Given the description of an element on the screen output the (x, y) to click on. 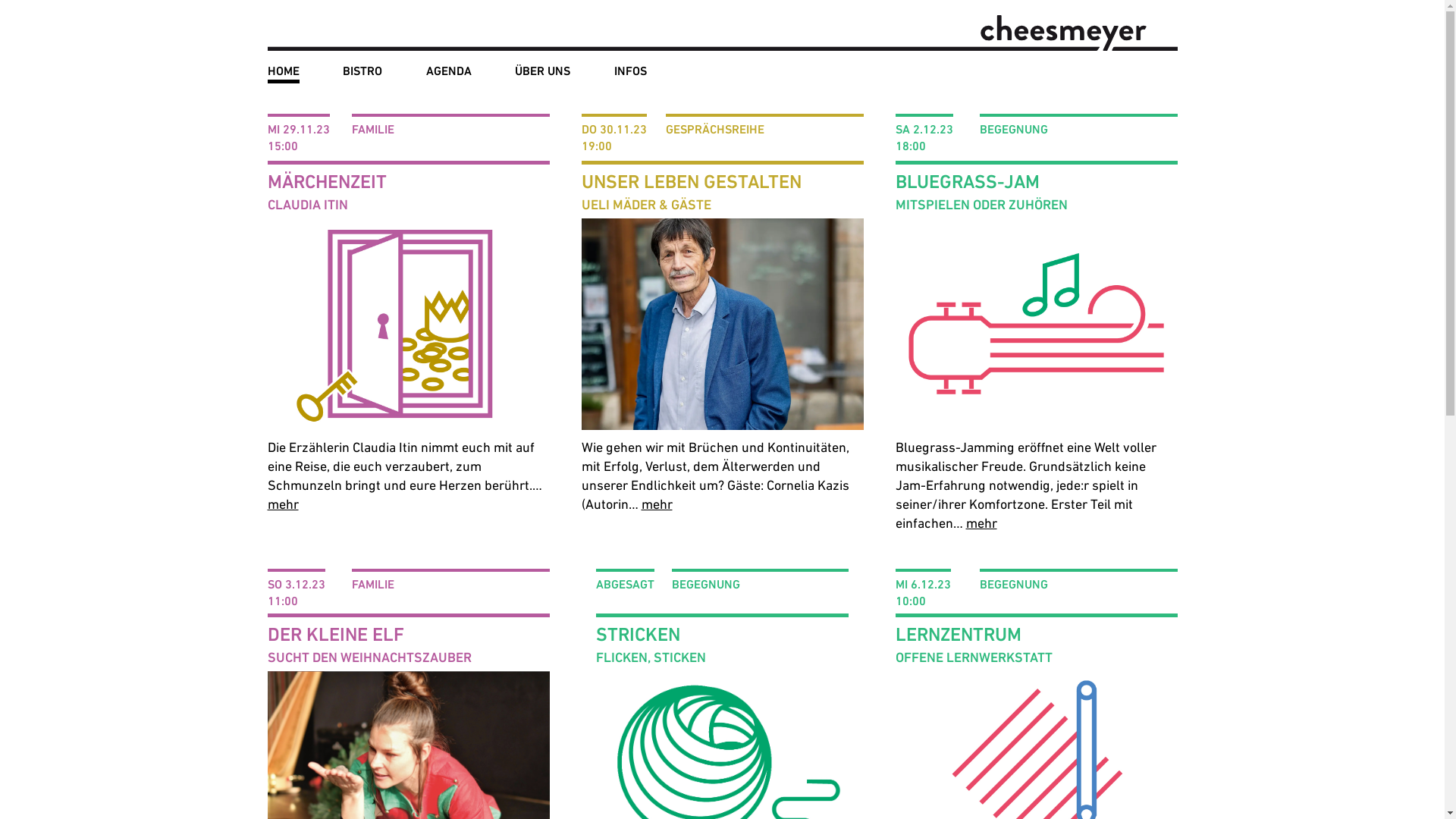
VEREIN Element type: text (534, 93)
LERNZENTRUM
OFFENE LERNWERKSTATT Element type: text (1035, 642)
GASTRONOMIE Element type: text (553, 93)
DER KLEINE ELF
SUCHT DEN WEIHNACHTSZAUBER Element type: text (407, 642)
INFOS Element type: text (630, 73)
TEAM Element type: text (529, 93)
MEDIEN & ARCHIV Element type: text (661, 93)
mehr Element type: text (656, 503)
MITMACHEN Element type: text (647, 93)
mehr Element type: text (282, 503)
STRICKEN
FLICKEN, STICKEN Element type: text (722, 642)
BEGEGNUNG Element type: text (548, 93)
KULTUR Element type: text (536, 93)
HOME Element type: text (282, 73)
mehr Element type: text (981, 522)
AGENDA Element type: text (448, 73)
BISTRO Element type: text (362, 73)
KONTAKT Element type: text (639, 93)
